Given the description of an element on the screen output the (x, y) to click on. 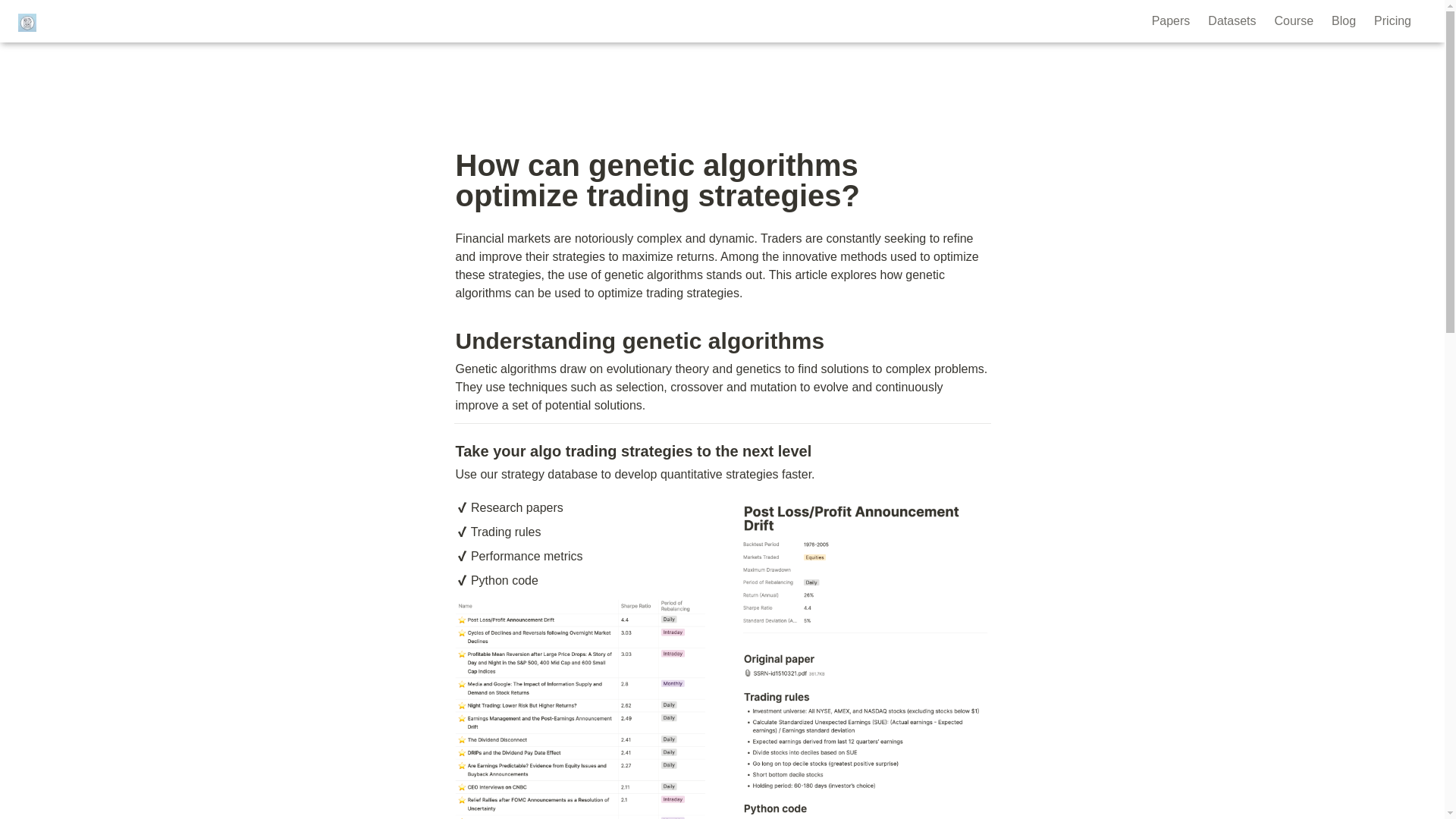
Blog (1343, 21)
Pricing (1393, 21)
Datasets (1231, 21)
Papers (1170, 21)
Course (1293, 21)
